Given the description of an element on the screen output the (x, y) to click on. 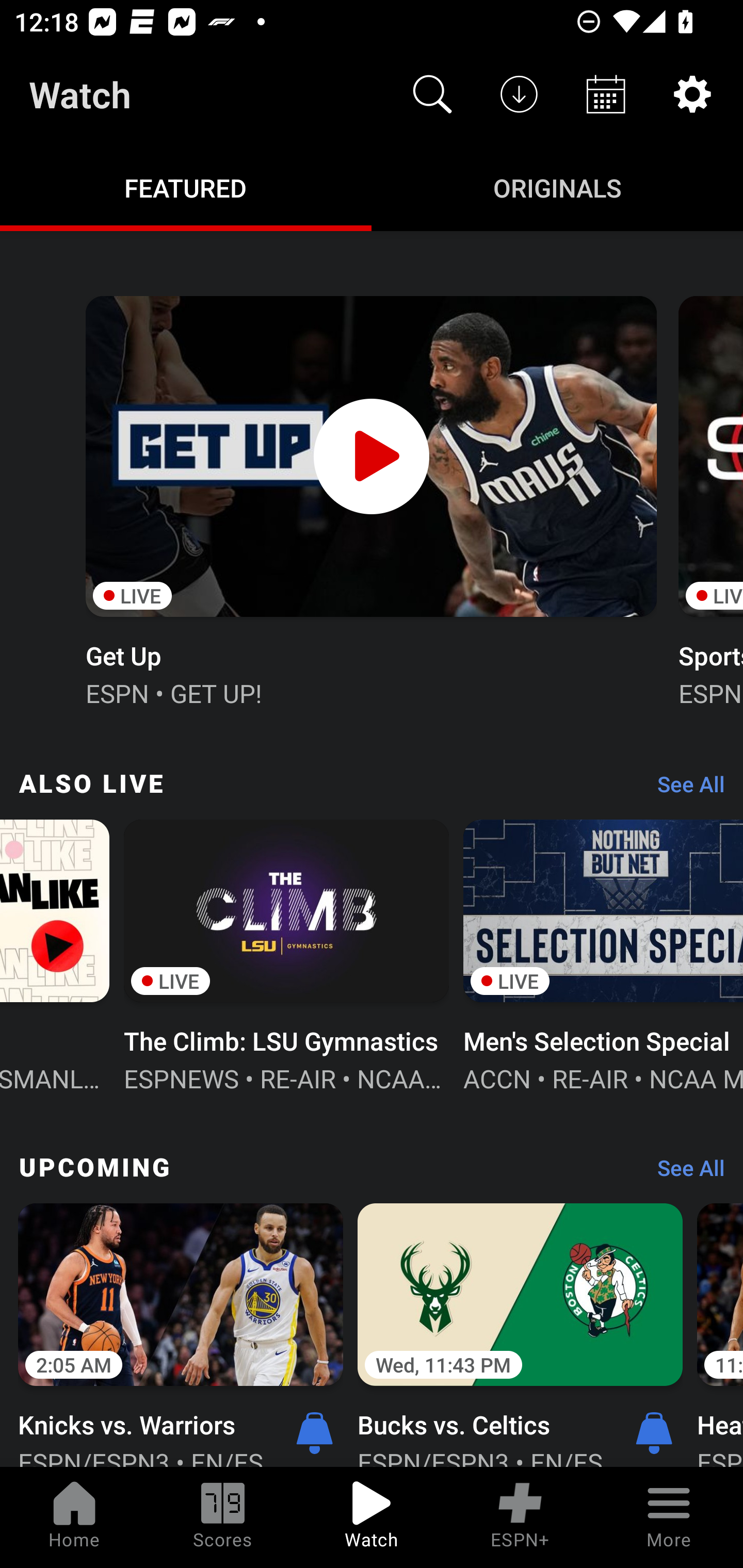
Search (432, 93)
Downloads (518, 93)
Schedule (605, 93)
Settings (692, 93)
Originals ORIGINALS (557, 187)
 LIVE Get Up ESPN • GET UP! (370, 499)
See All (683, 788)
See All (683, 1172)
Home (74, 1517)
Scores (222, 1517)
ESPN+ (519, 1517)
More (668, 1517)
